Given the description of an element on the screen output the (x, y) to click on. 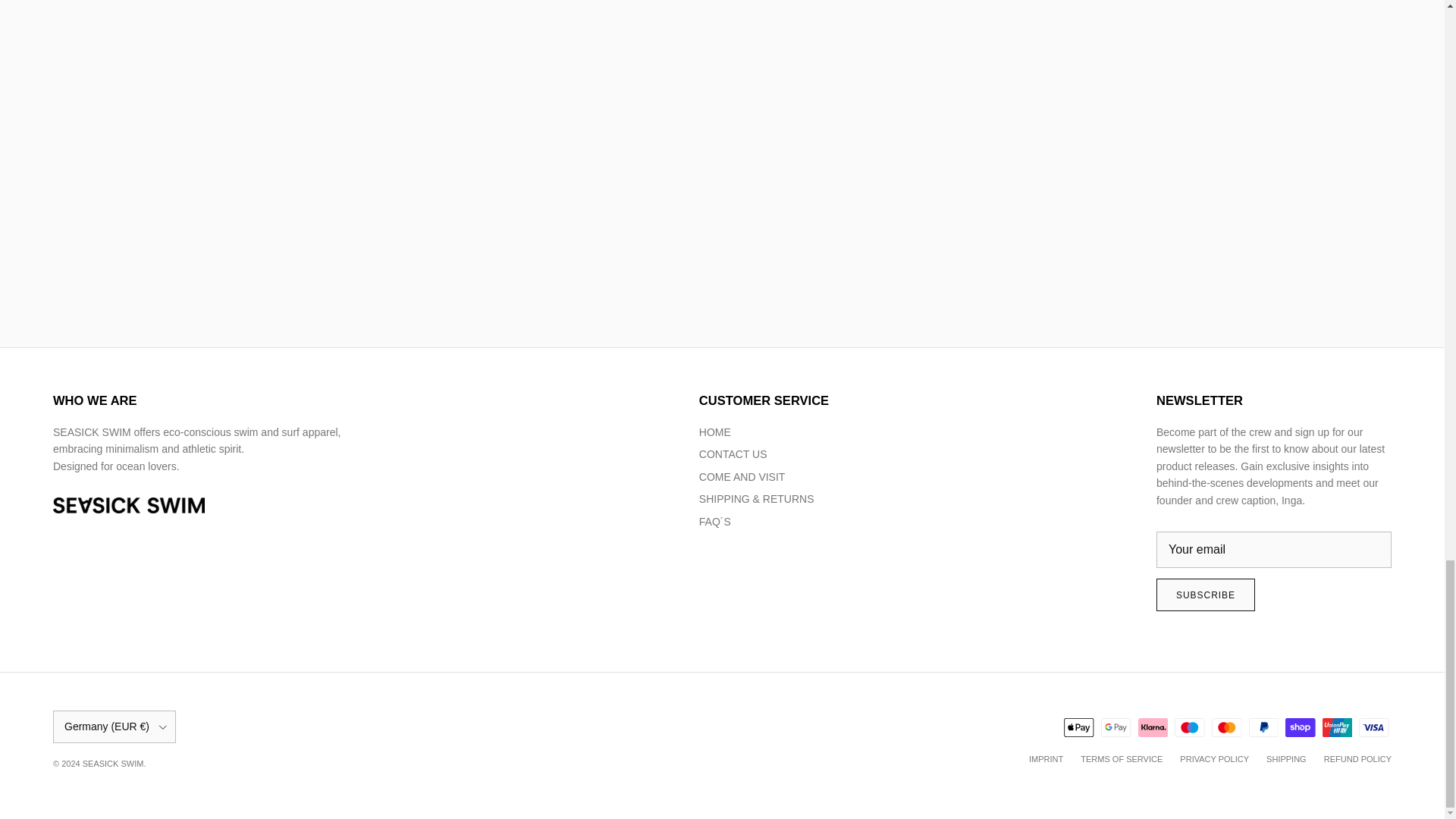
Maestro (1189, 727)
Google Pay (1115, 727)
Shop Pay (1299, 727)
Union Pay (1337, 727)
PayPal (1262, 727)
Visa (1373, 727)
Klarna (1152, 727)
Mastercard (1226, 727)
Apple Pay (1078, 727)
